Given the description of an element on the screen output the (x, y) to click on. 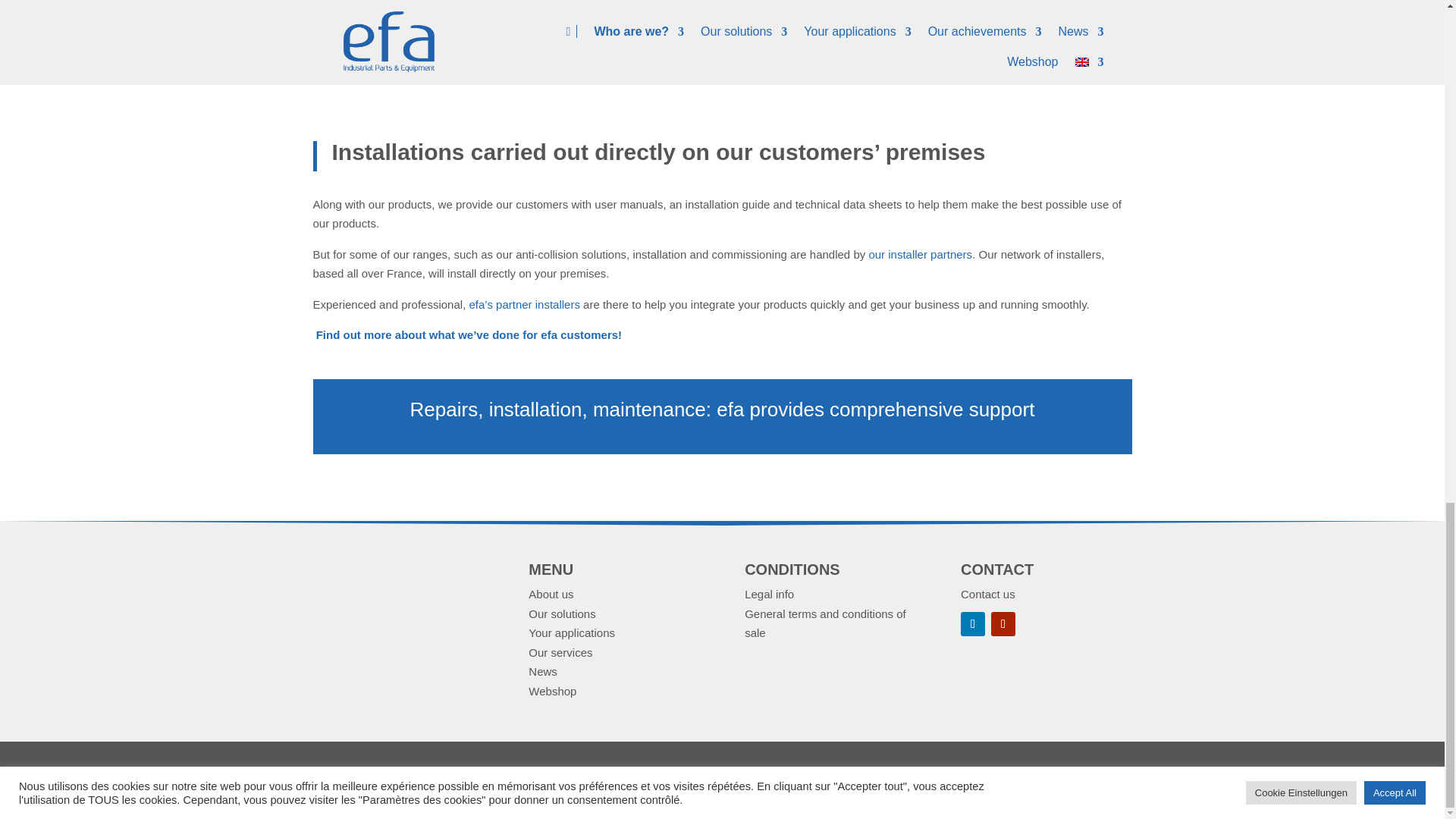
logo-bleu (397, 593)
Follow on Youtube (1002, 623)
Follow on LinkedIn (972, 623)
